Given the description of an element on the screen output the (x, y) to click on. 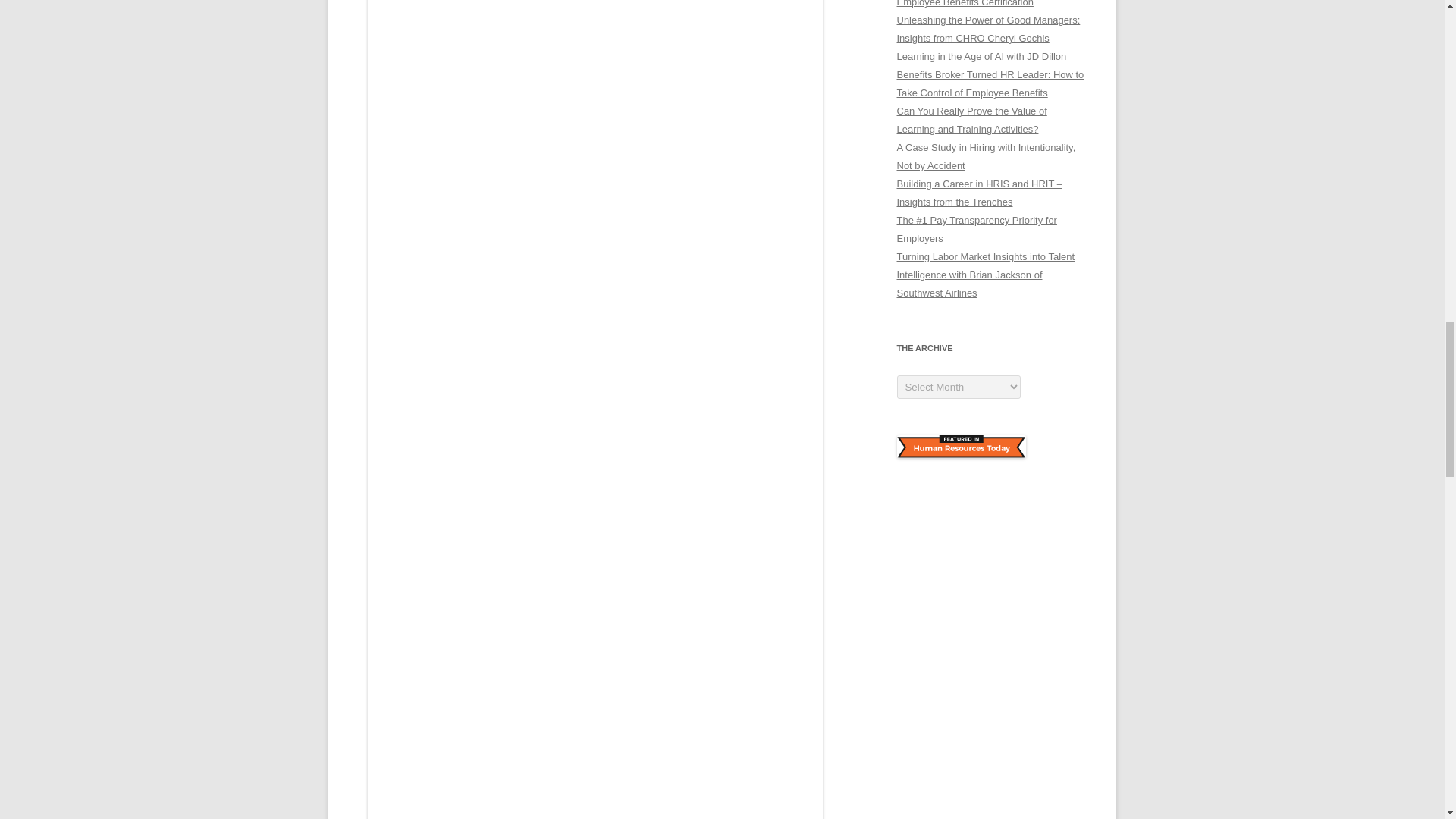
Human Resources Today (960, 445)
Learning in the Age of AI with JD Dillon (980, 56)
A Case Study in Hiring with Intentionality, Not by Accident (985, 156)
